Given the description of an element on the screen output the (x, y) to click on. 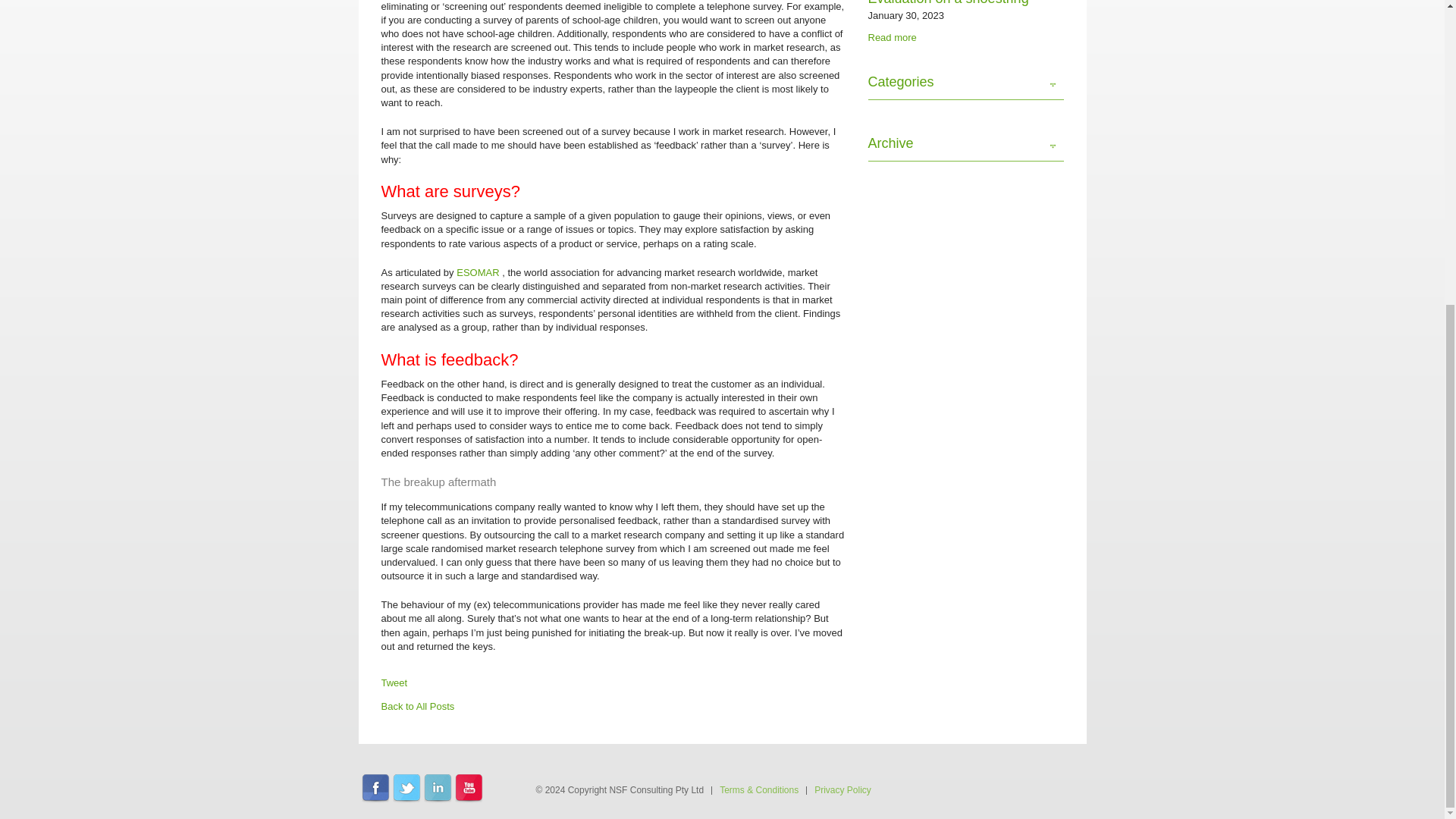
ESOMAR (479, 272)
Tweet (393, 688)
Read more (891, 37)
Categories (964, 86)
Back to All Posts (417, 706)
ESOMAR (479, 272)
Evaluation on a shoestring (947, 2)
